Given the description of an element on the screen output the (x, y) to click on. 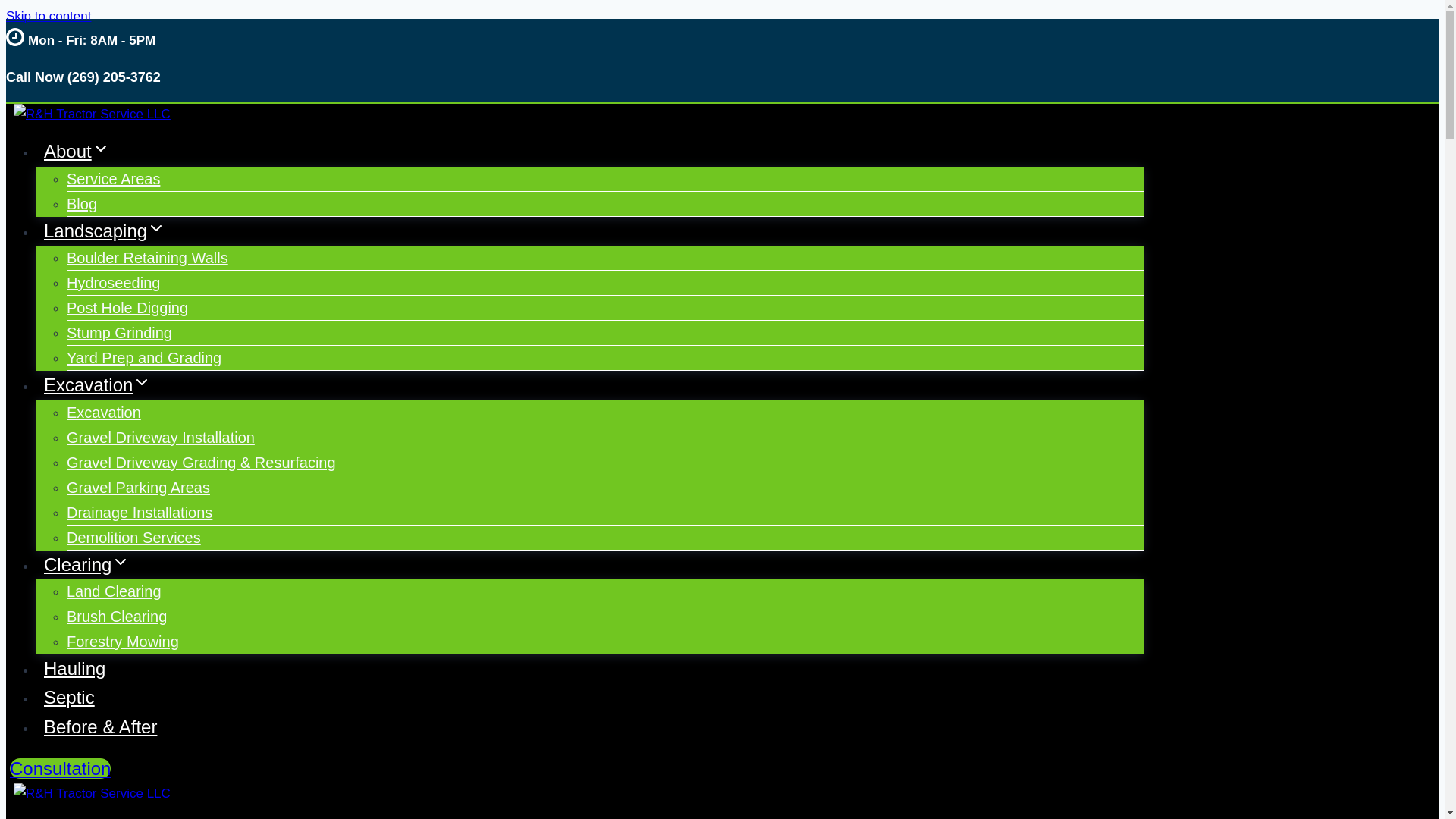
Brush Clearing (116, 615)
Skip to content (47, 16)
Demolition Services (133, 537)
Land Clearing (113, 591)
Expand (156, 228)
ExcavationExpand (97, 384)
Gravel Parking Areas (137, 487)
ClearingExpand (86, 564)
AboutExpand (76, 150)
LandscapingExpand (104, 230)
